Given the description of an element on the screen output the (x, y) to click on. 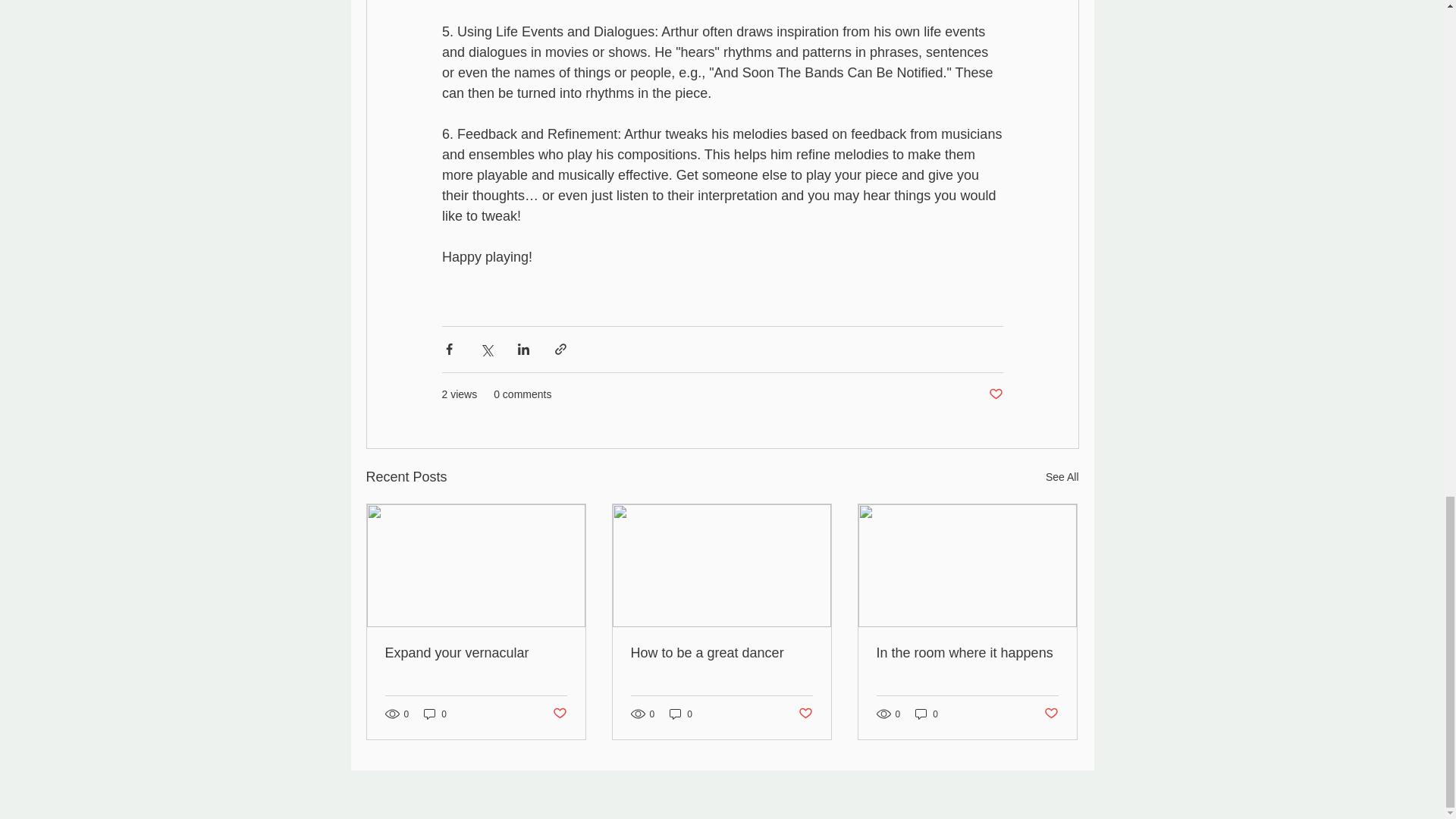
In the room where it happens (967, 652)
See All (1061, 477)
0 (435, 713)
Expand your vernacular (476, 652)
0 (681, 713)
Post not marked as liked (1050, 713)
0 (926, 713)
How to be a great dancer (721, 652)
Post not marked as liked (804, 713)
Post not marked as liked (558, 713)
Post not marked as liked (995, 394)
